Given the description of an element on the screen output the (x, y) to click on. 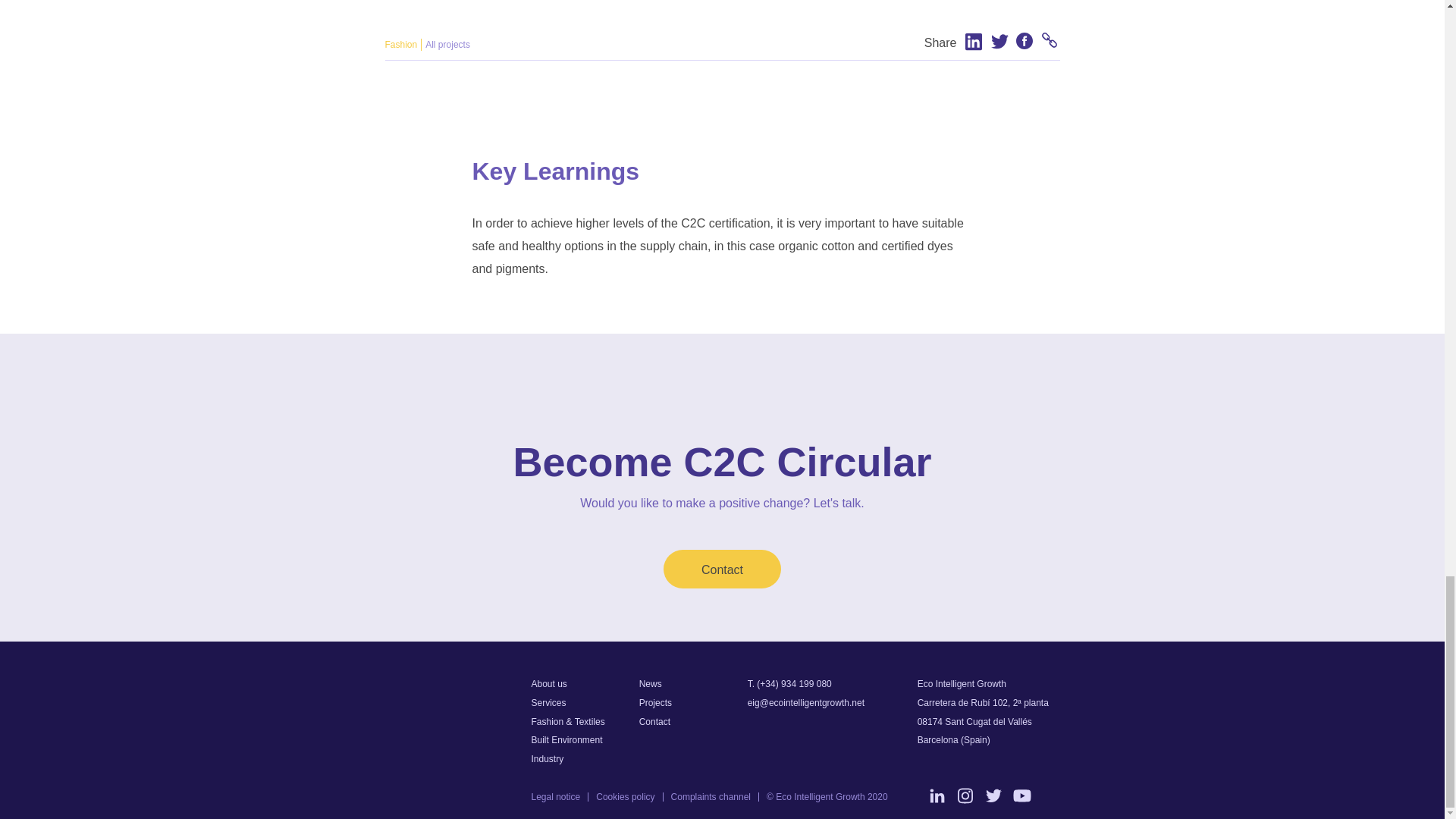
Industry (547, 758)
Fashion (401, 44)
About us (548, 683)
Contact (721, 568)
Share on Facebook (1021, 41)
Twitter (995, 41)
LinkedIn (972, 41)
Permalink (1046, 41)
Twitter (999, 41)
Permalink (1050, 41)
Built Environment (566, 739)
Services (548, 702)
Facebook (1024, 41)
Facebook (1021, 41)
All projects (447, 44)
